Given the description of an element on the screen output the (x, y) to click on. 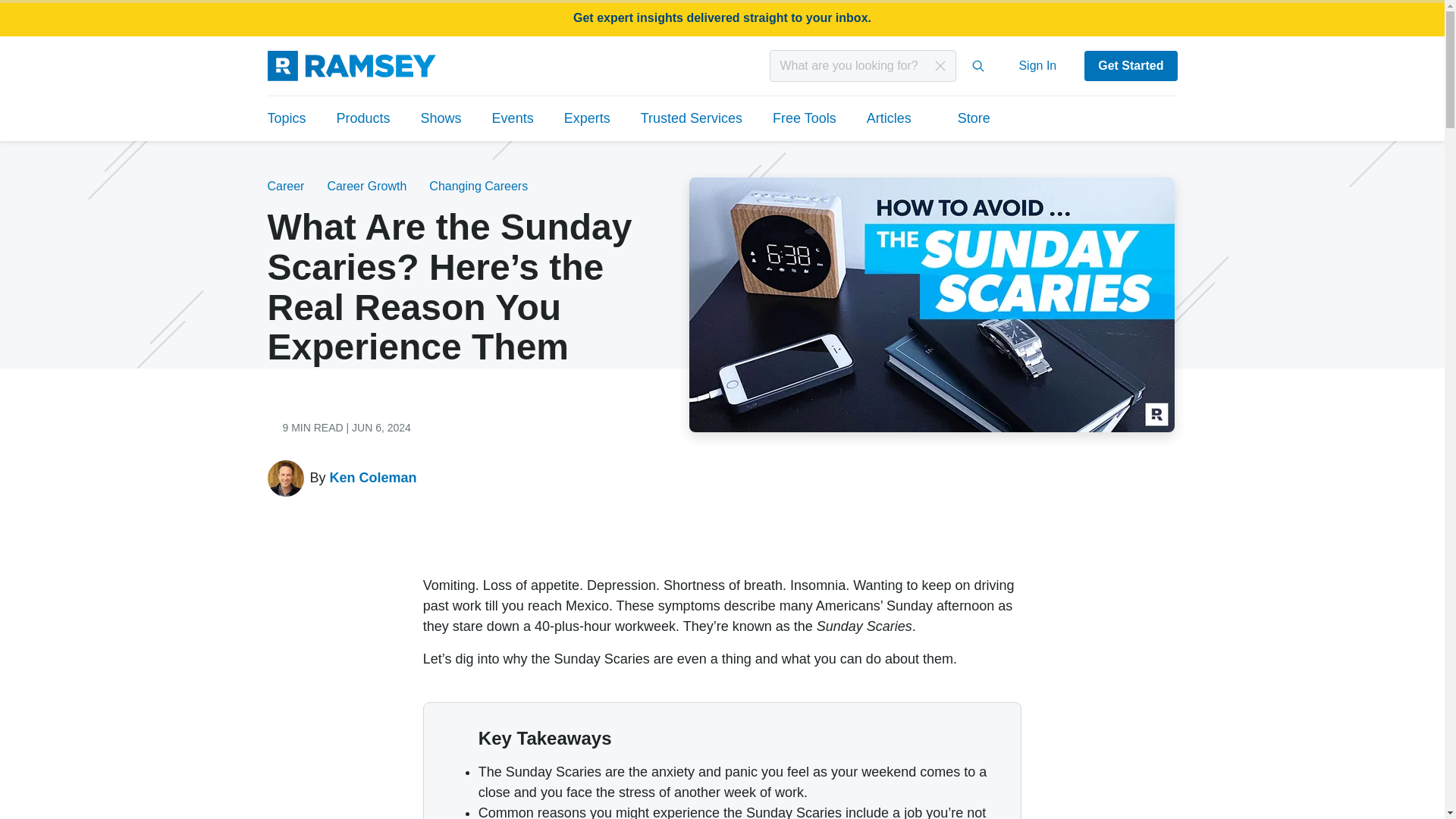
Search (978, 65)
Get Started (1130, 65)
Sign In (1037, 65)
Get expert insights delivered straight to your inbox. (721, 17)
Products (363, 118)
Topics (293, 118)
